Given the description of an element on the screen output the (x, y) to click on. 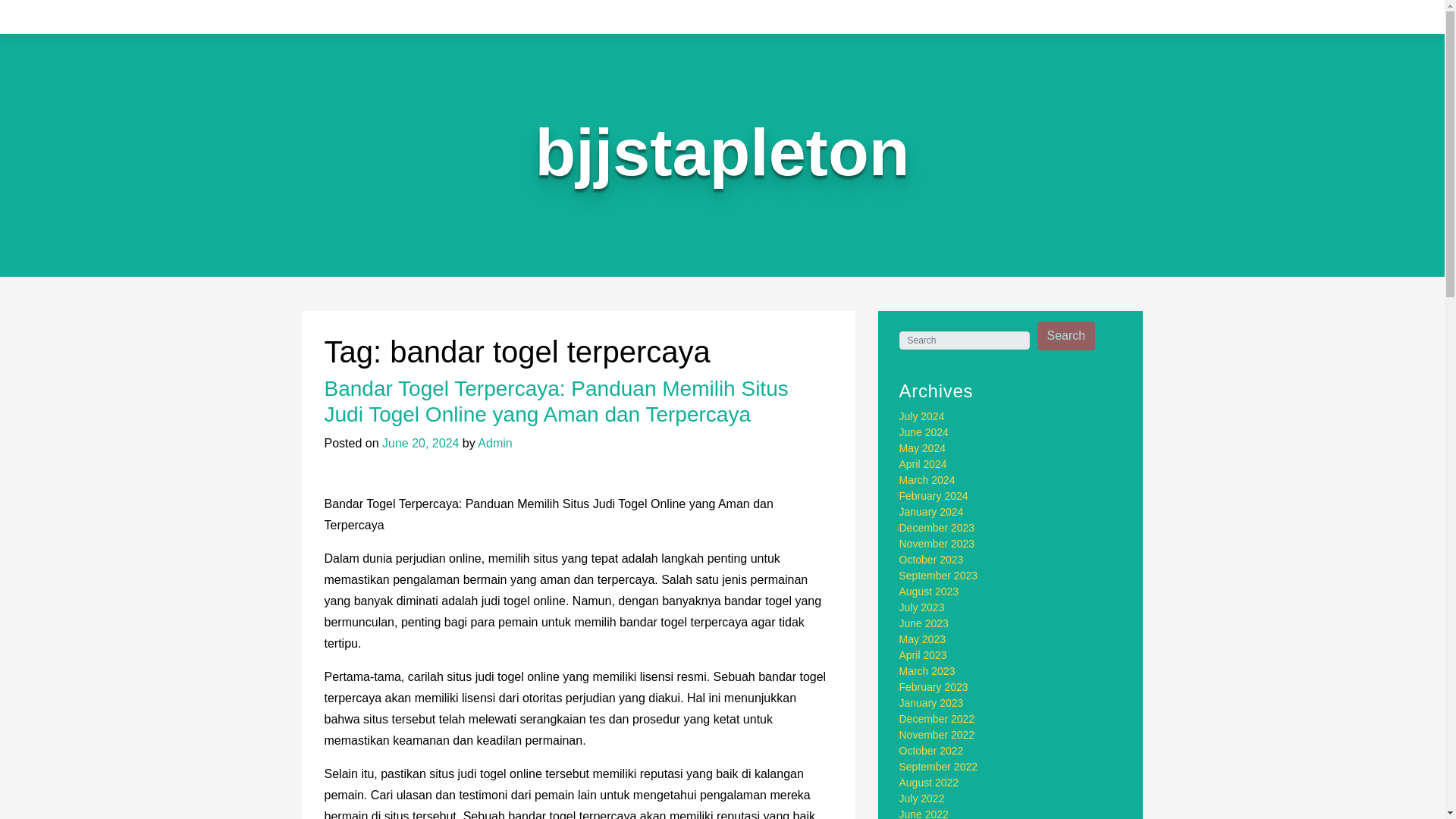
May 2023 (921, 639)
April 2023 (923, 654)
July 2024 (921, 416)
September 2023 (938, 575)
March 2024 (927, 480)
February 2024 (933, 495)
Admin (494, 442)
August 2023 (929, 591)
June 2023 (924, 623)
November 2023 (937, 543)
January 2024 (931, 511)
July 2023 (921, 607)
June 20, 2024 (419, 442)
May 2024 (921, 448)
